Given the description of an element on the screen output the (x, y) to click on. 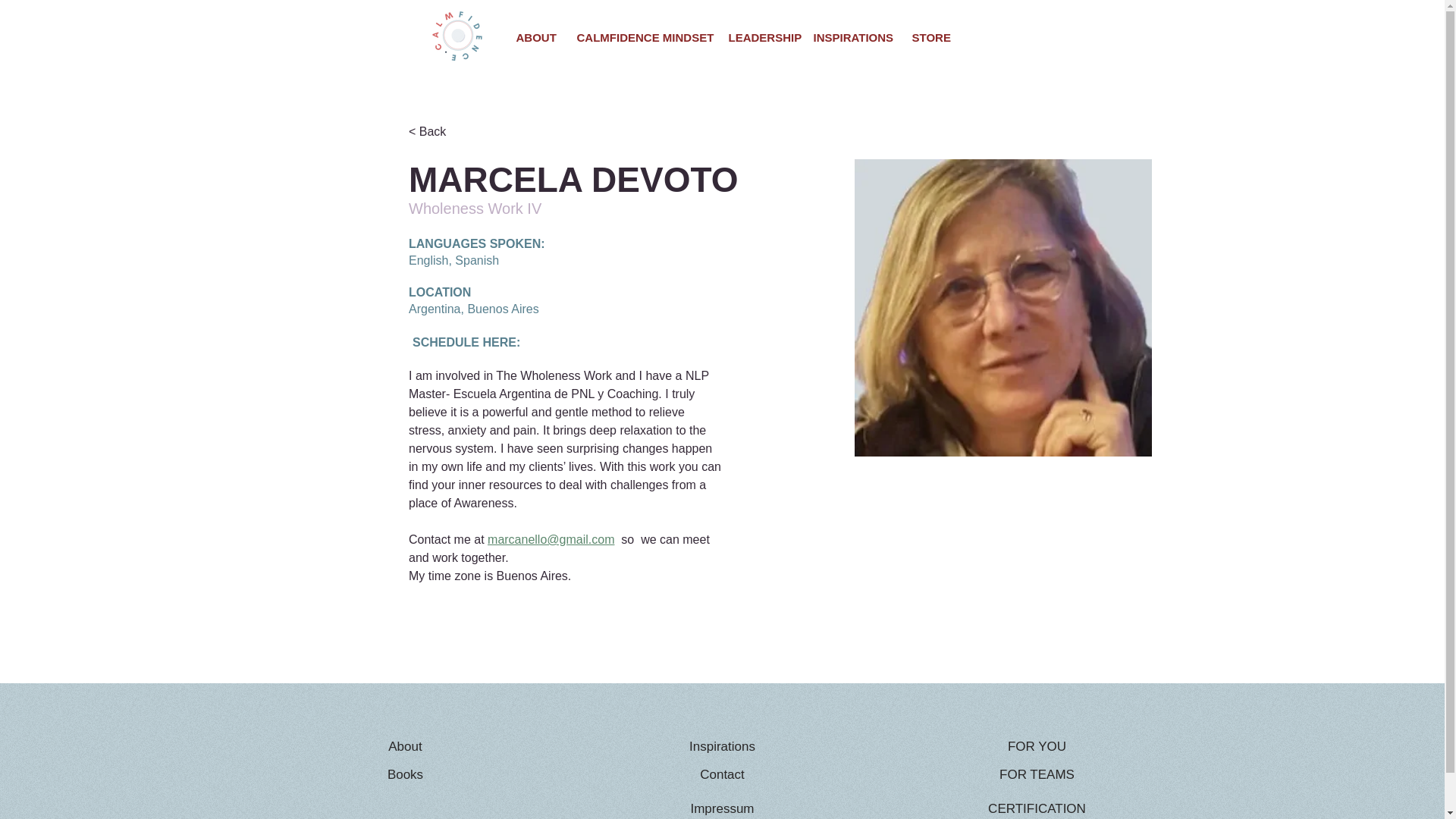
FOR TEAMS (1036, 775)
CALMFIDENCE MINDSET (640, 37)
LEADERSHIP (758, 37)
Inspirations (722, 747)
FOR YOU (1036, 747)
Books (406, 775)
INSPIRATIONS (849, 37)
CERTIFICATION (1036, 806)
ABOUT (534, 37)
Contact (722, 775)
STORE (927, 37)
Impressum (722, 806)
About (406, 747)
